Given the description of an element on the screen output the (x, y) to click on. 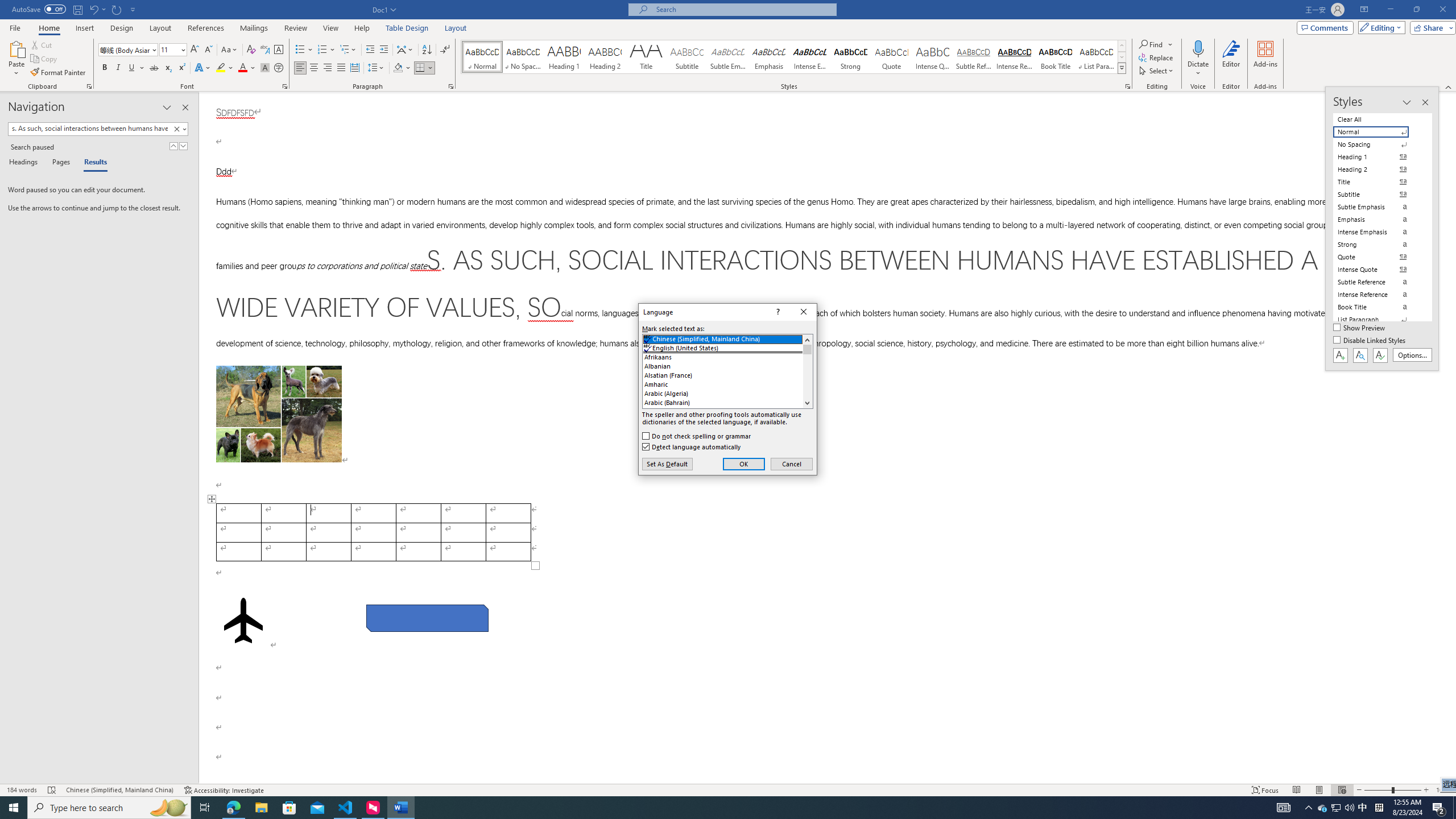
Emphasis (768, 56)
Next Result (183, 145)
Set As Default (667, 463)
